Given the description of an element on the screen output the (x, y) to click on. 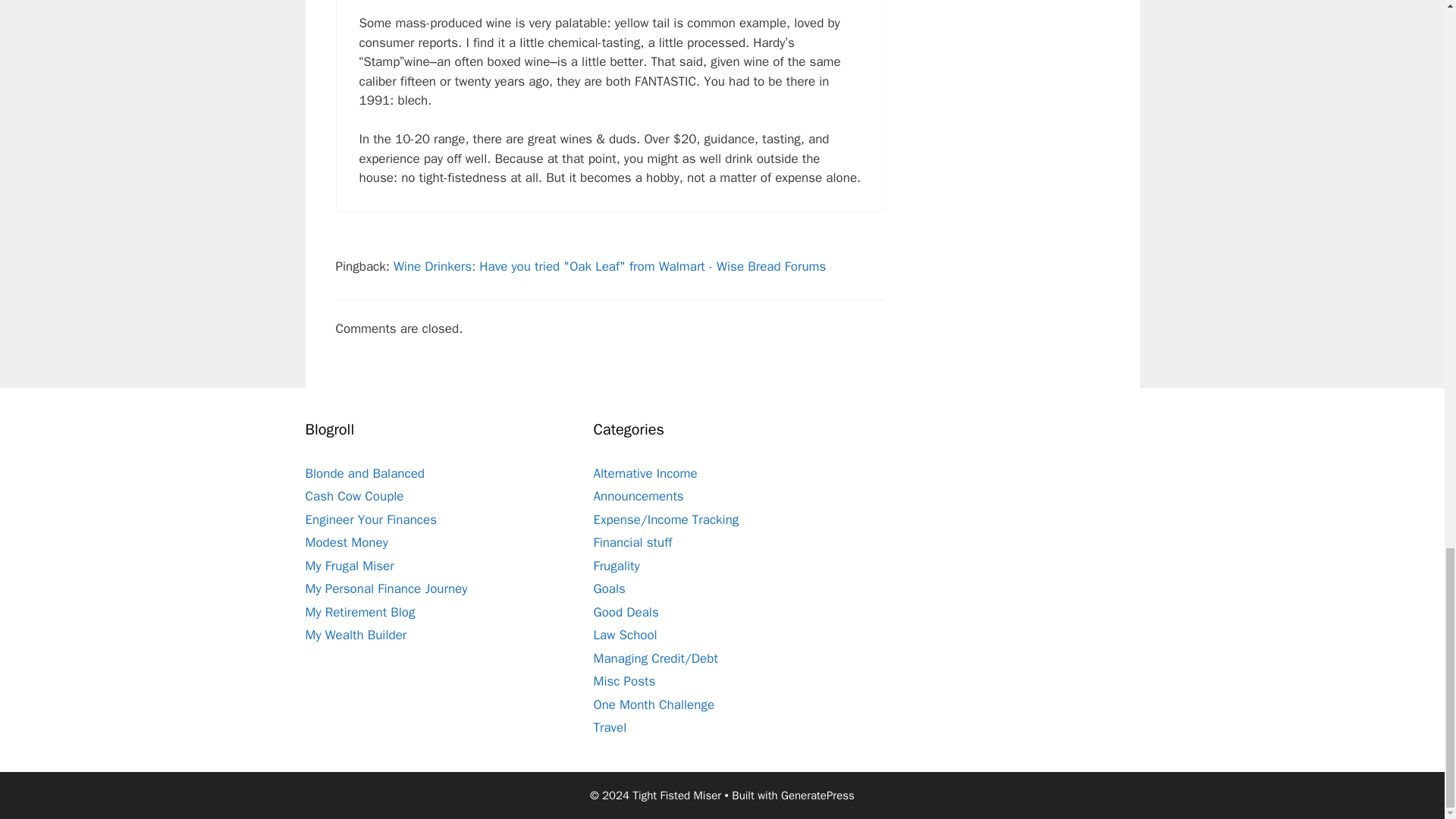
Alternative Income (644, 473)
My Frugal Miser (348, 565)
Announcements (637, 496)
Blonde and Balanced (364, 473)
My Retirement Blog (359, 611)
Cash Cow Couple (353, 496)
Modest Money (345, 542)
My Personal Finance Journey (385, 588)
Engineer Your Finances (370, 519)
